Given the description of an element on the screen output the (x, y) to click on. 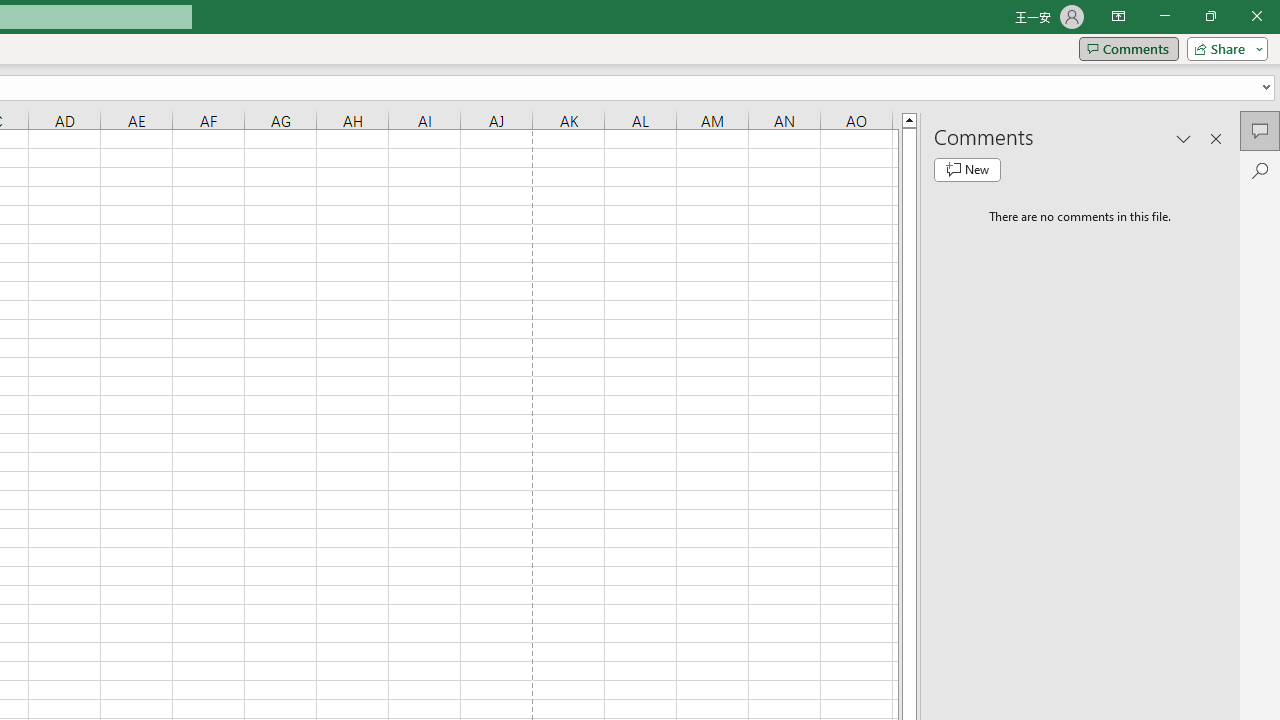
Share (1223, 48)
Search (1260, 170)
Restore Down (1210, 16)
Close pane (1215, 138)
New comment (967, 169)
Comments (1260, 130)
Comments (1128, 48)
Close (1256, 16)
Task Pane Options (1183, 138)
Ribbon Display Options (1118, 16)
Minimize (1164, 16)
Line up (909, 119)
